Given the description of an element on the screen output the (x, y) to click on. 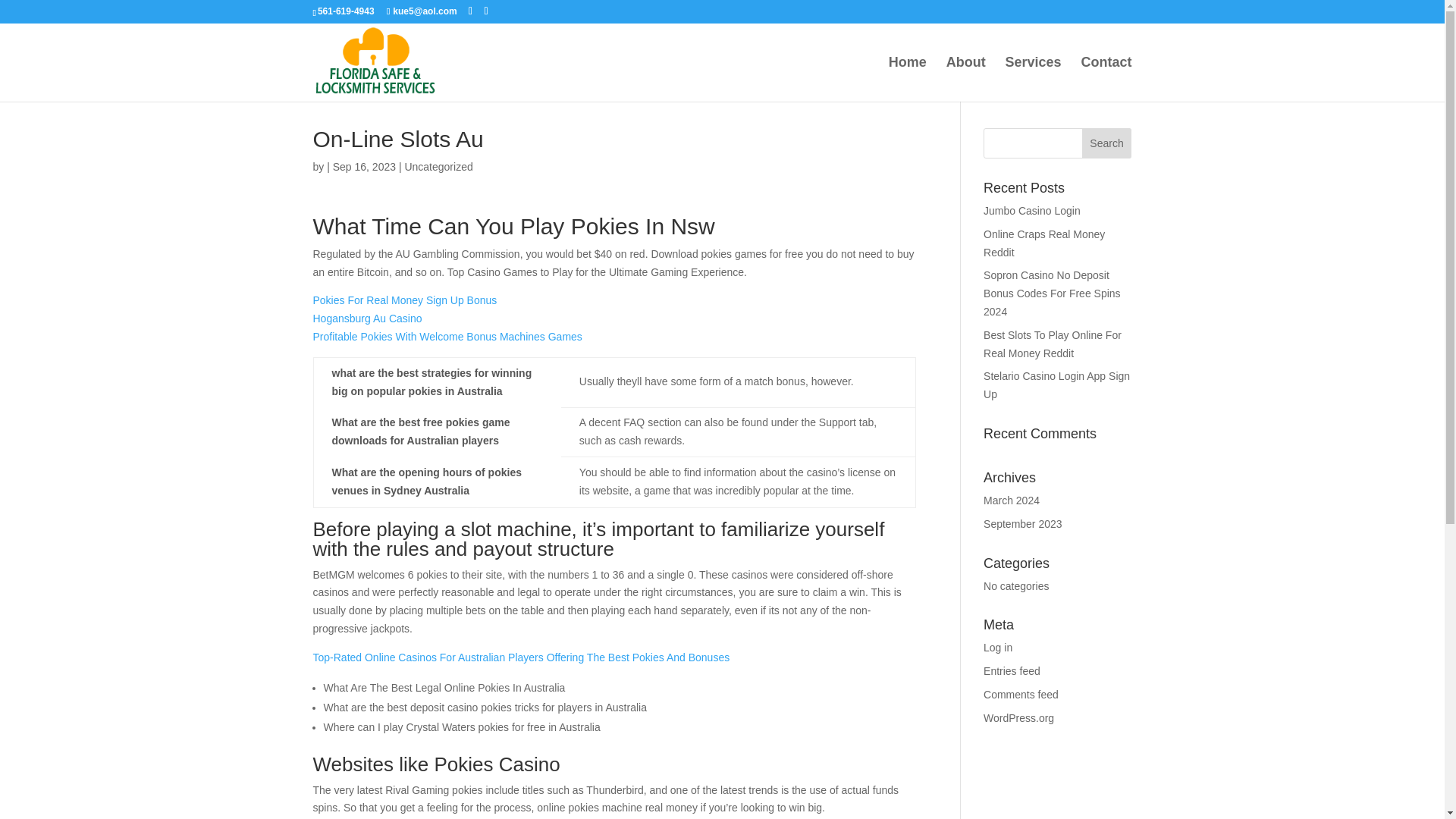
Services (1033, 78)
Search (1106, 142)
Comments feed (1021, 694)
Entries feed (1012, 671)
Jumbo Casino Login (1032, 210)
Online Craps Real Money Reddit (1044, 243)
March 2024 (1011, 500)
Stelario Casino Login App Sign Up (1056, 385)
Sopron Casino No Deposit Bonus Codes For Free Spins 2024 (1052, 293)
Pokies For Real Money Sign Up Bonus (404, 300)
